Given the description of an element on the screen output the (x, y) to click on. 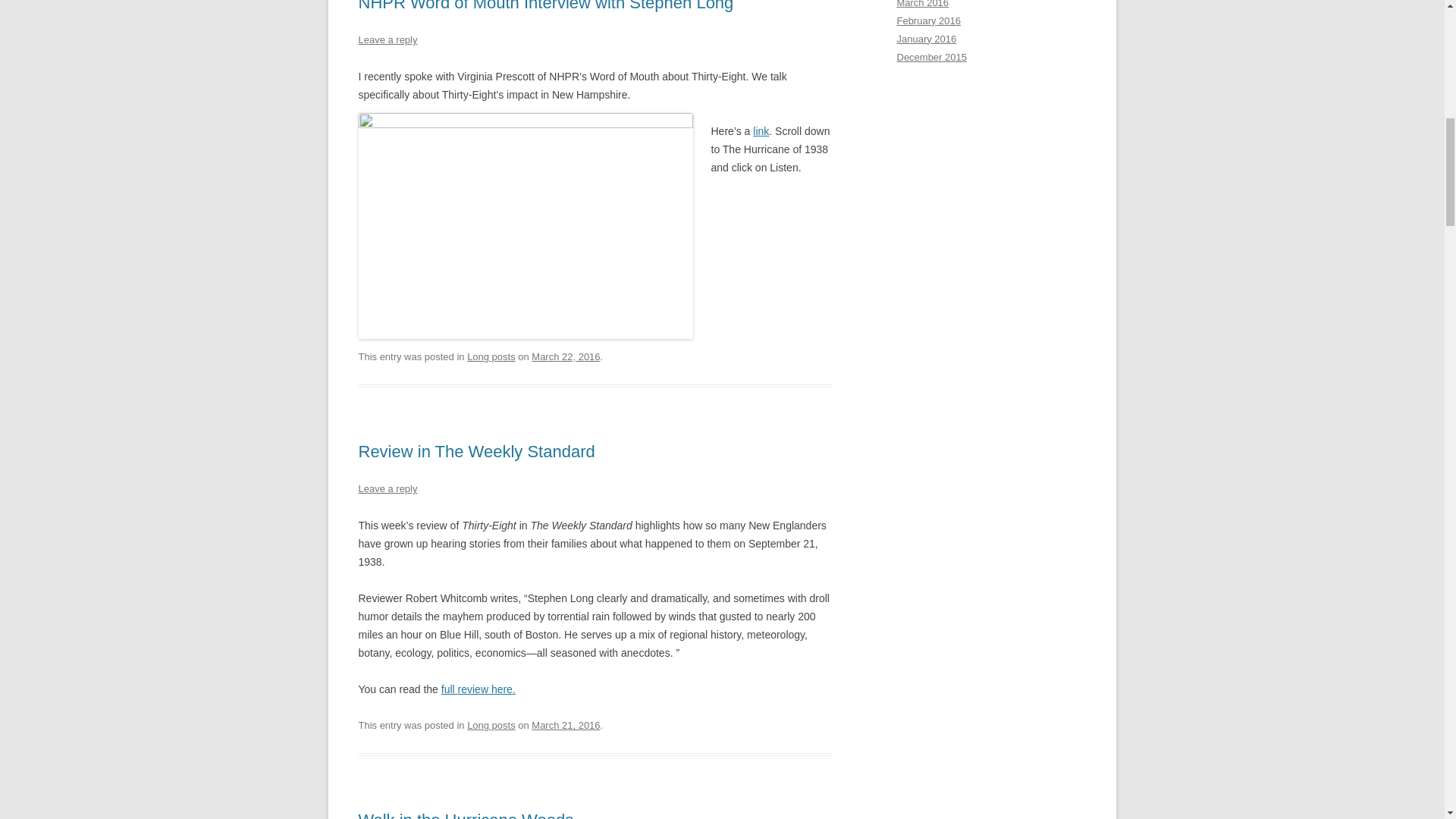
NHPR Word of Mouth Interview with Stephen Long (545, 6)
Review in The Weekly Standard (476, 451)
March 22, 2016 (565, 356)
Long posts (491, 356)
Leave a reply (387, 488)
9:45 am (565, 356)
Leave a reply (387, 39)
March 21, 2016 (565, 725)
link (760, 131)
2:21 pm (565, 725)
Long posts (491, 725)
Walk in the Hurricane Woods (465, 814)
full review here. (478, 689)
